Given the description of an element on the screen output the (x, y) to click on. 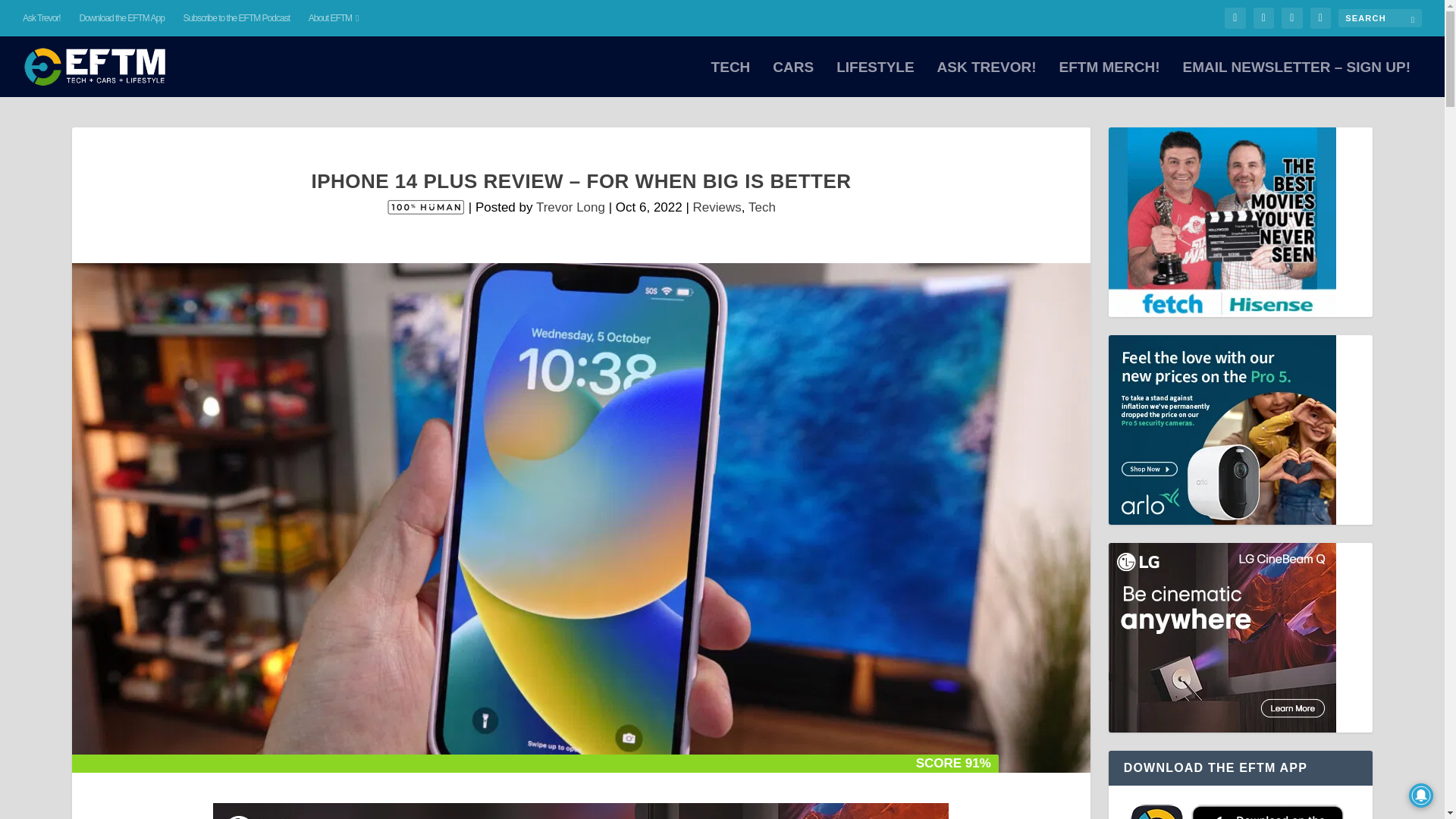
CARS (793, 79)
TECH (731, 79)
Search for: (1380, 18)
LIFESTYLE (874, 79)
ASK TREVOR! (986, 79)
Download the EFTM App (120, 18)
Posts by Trevor Long (570, 206)
About EFTM (333, 18)
Subscribe to the EFTM Podcast (236, 18)
EFTM MERCH! (1108, 79)
Ask Trevor! (42, 18)
